Given the description of an element on the screen output the (x, y) to click on. 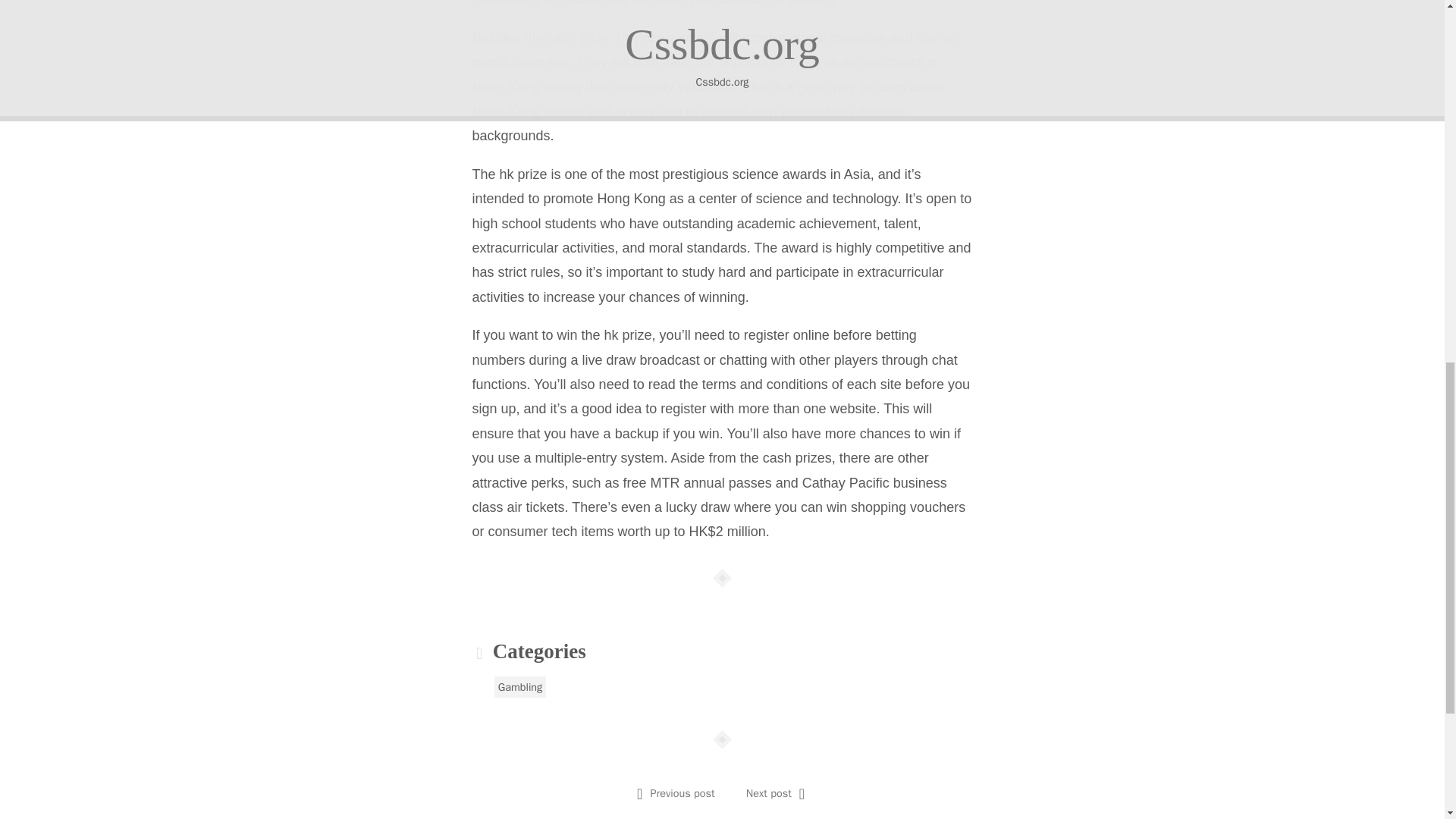
Previous post (682, 793)
Gambling (521, 686)
Next post (768, 793)
